Given the description of an element on the screen output the (x, y) to click on. 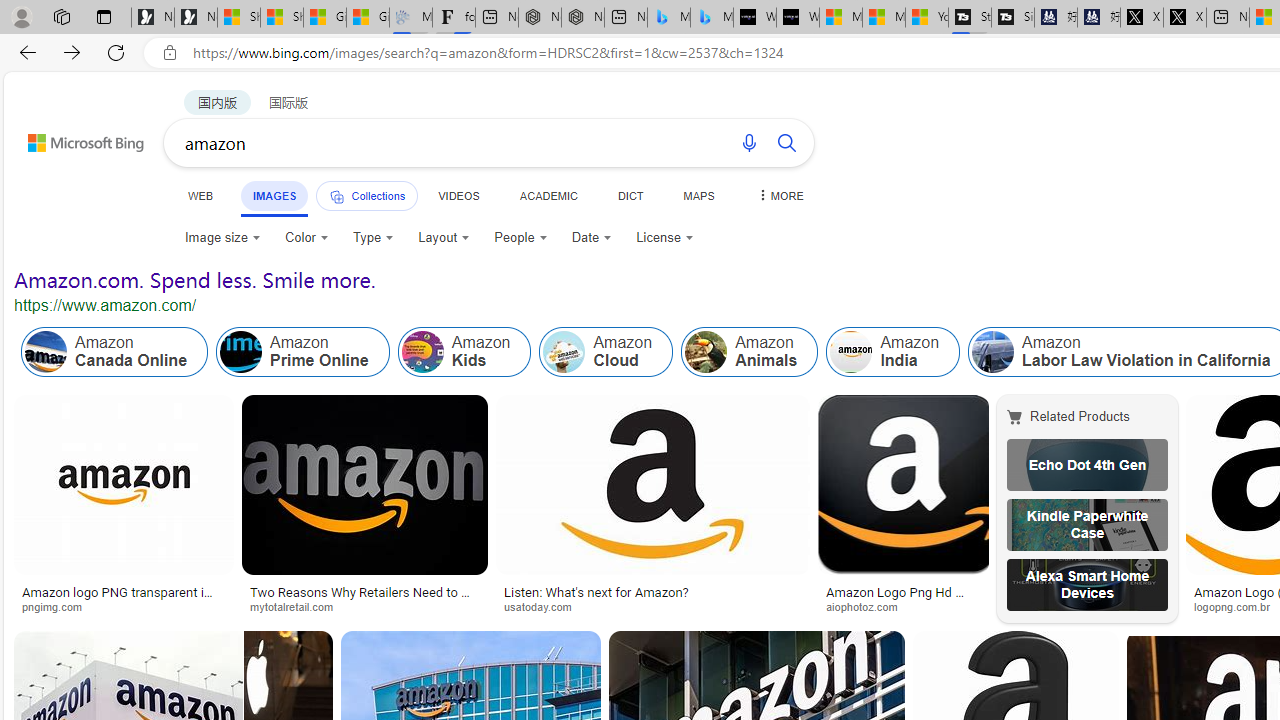
VIDEOS (458, 195)
MORE (779, 195)
Amazon Prime Online (241, 351)
